Given the description of an element on the screen output the (x, y) to click on. 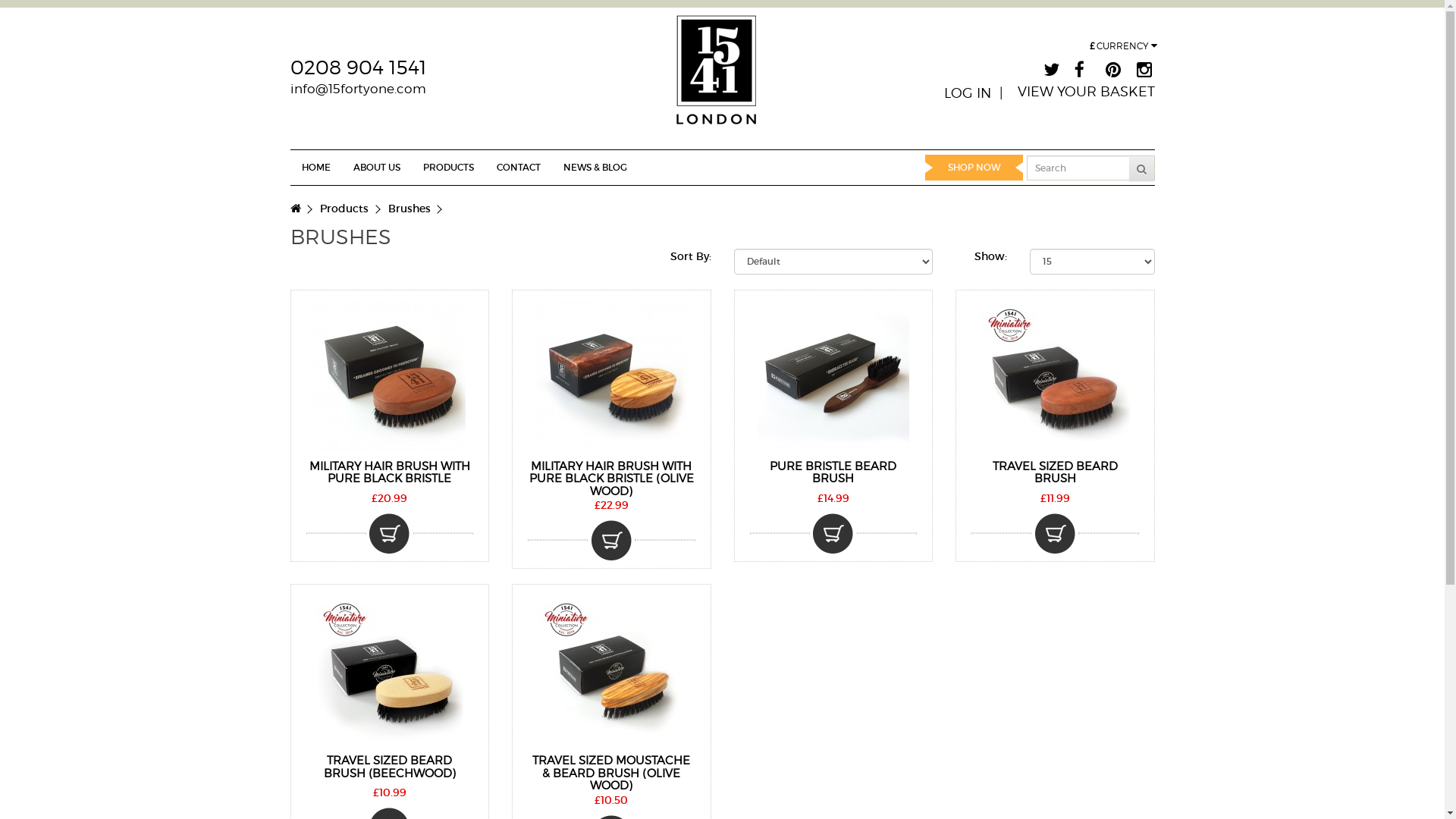
MILITARY HAIR BRUSH WITH PURE BLACK BRISTLE Element type: text (389, 472)
Military Hair Brush with Pure Black Bristle Element type: hover (389, 375)
Travel Sized Beard Brush Element type: hover (1054, 375)
| Element type: text (1004, 92)
VIEW YOUR BASKET Element type: text (1085, 91)
ABOUT US Element type: text (376, 167)
TRAVEL SIZED MOUSTACHE & BEARD BRUSH (OLIVE WOOD) Element type: text (611, 772)
Travel Sized Beard Brush (Beechwood) Element type: hover (389, 669)
Pure Bristle Beard Brush Element type: hover (832, 375)
Info Element type: text (611, 540)
HOME Element type: text (315, 167)
Info Element type: text (832, 533)
TRAVEL SIZED BEARD BRUSH Element type: text (1054, 472)
NEWS & BLOG Element type: text (595, 167)
Info Element type: text (1055, 533)
MILITARY HAIR BRUSH WITH PURE BLACK BRISTLE (OLIVE WOOD) Element type: text (611, 478)
1541 London Element type: hover (715, 81)
TRAVEL SIZED BEARD BRUSH (BEECHWOOD) Element type: text (389, 766)
Products Element type: text (344, 208)
Brushes Element type: text (409, 208)
Military Hair Brush with Pure Black Bristle (Olive Wood) Element type: hover (610, 375)
PURE BRISTLE BEARD BRUSH Element type: text (832, 472)
LOG IN Element type: text (966, 92)
Info Element type: text (389, 533)
CONTACT Element type: text (518, 167)
PRODUCTS Element type: text (447, 167)
Travel Sized Moustache & Beard Brush (Olive Wood) Element type: hover (610, 669)
SHOP NOW Element type: text (973, 167)
